Given the description of an element on the screen output the (x, y) to click on. 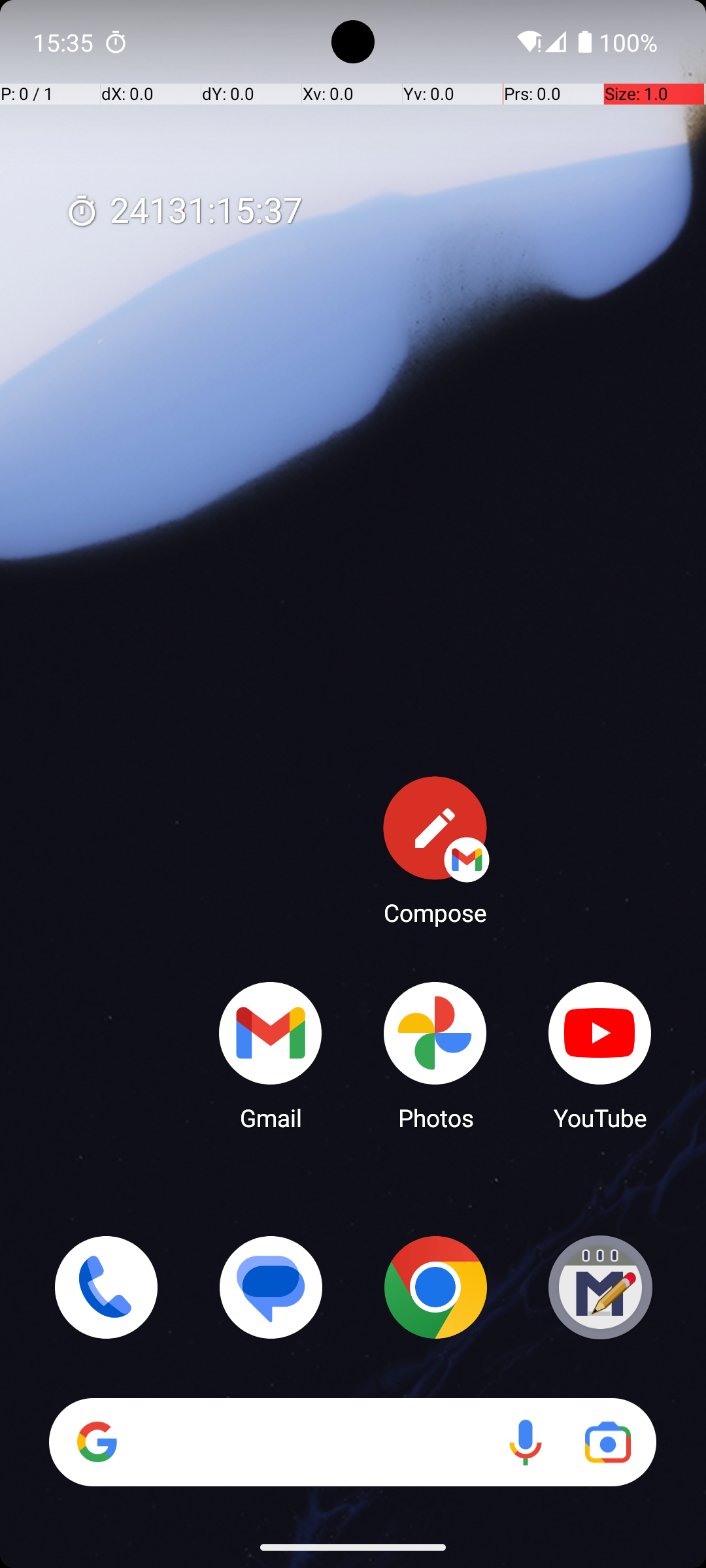
24131:15:38 Element type: android.widget.TextView (183, 210)
